Given the description of an element on the screen output the (x, y) to click on. 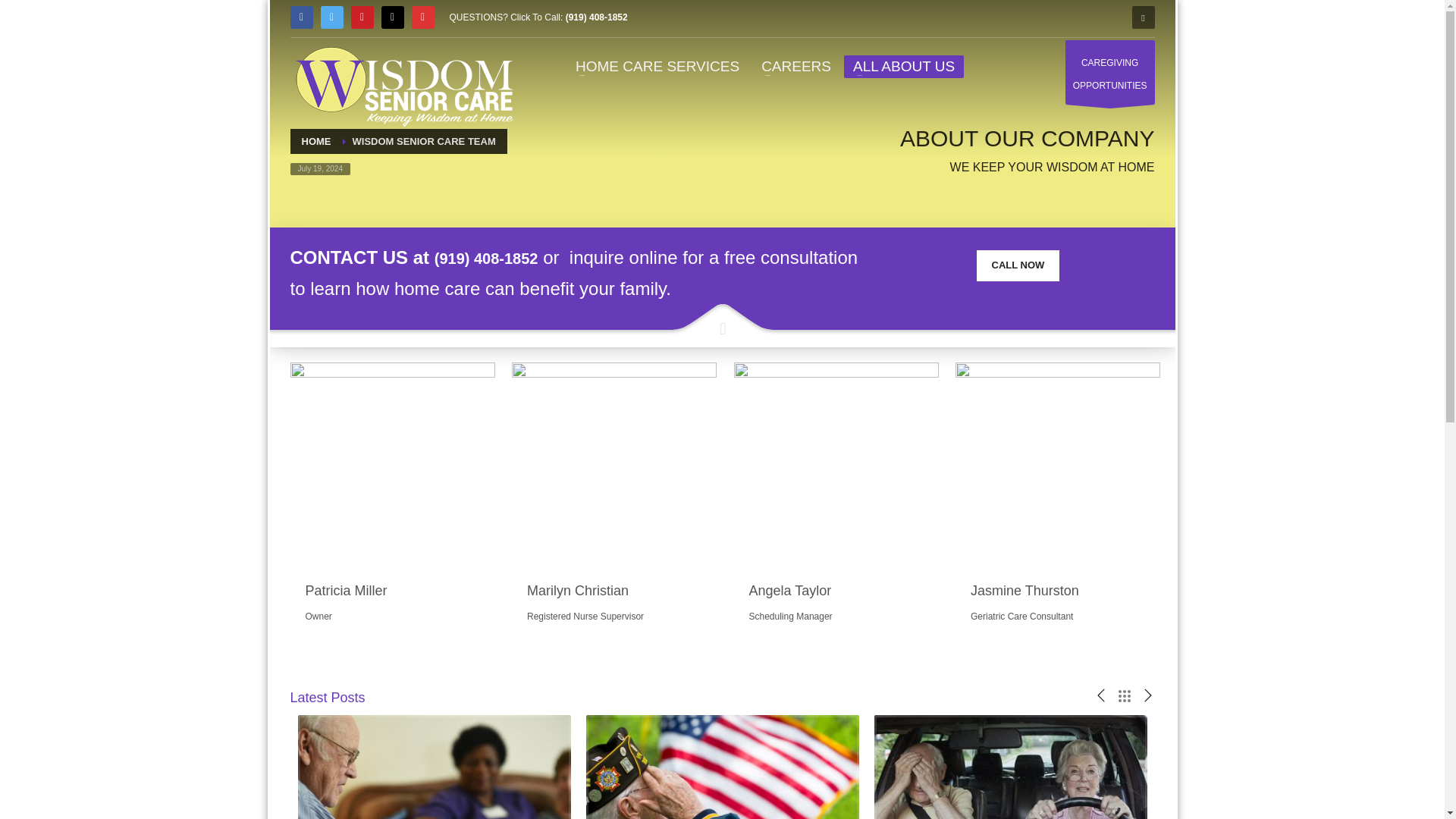
inquire online (623, 257)
Click me (1109, 72)
Keeping Wisdom At Home (1017, 265)
HOME CARE SERVICES (402, 83)
Twitter (657, 66)
ALL ABOUT US (331, 16)
Give A Google Review (903, 66)
CALL NOW (361, 16)
Visit us On YouTube  (1017, 265)
Trouble Ticket (421, 16)
CAREERS (391, 16)
facebook (796, 66)
HOME (301, 16)
